Given the description of an element on the screen output the (x, y) to click on. 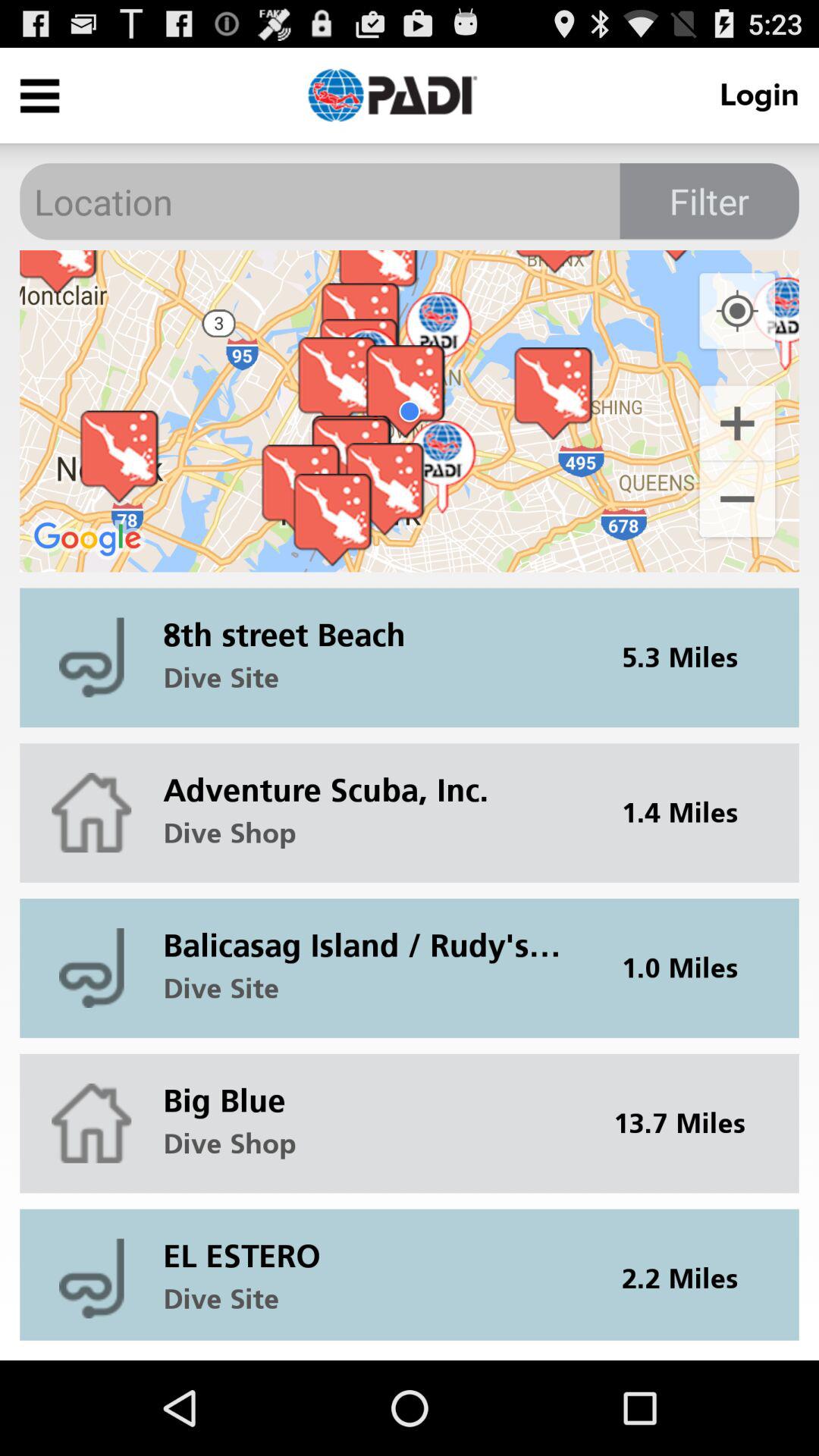
tap the item below dive shop item (371, 933)
